Given the description of an element on the screen output the (x, y) to click on. 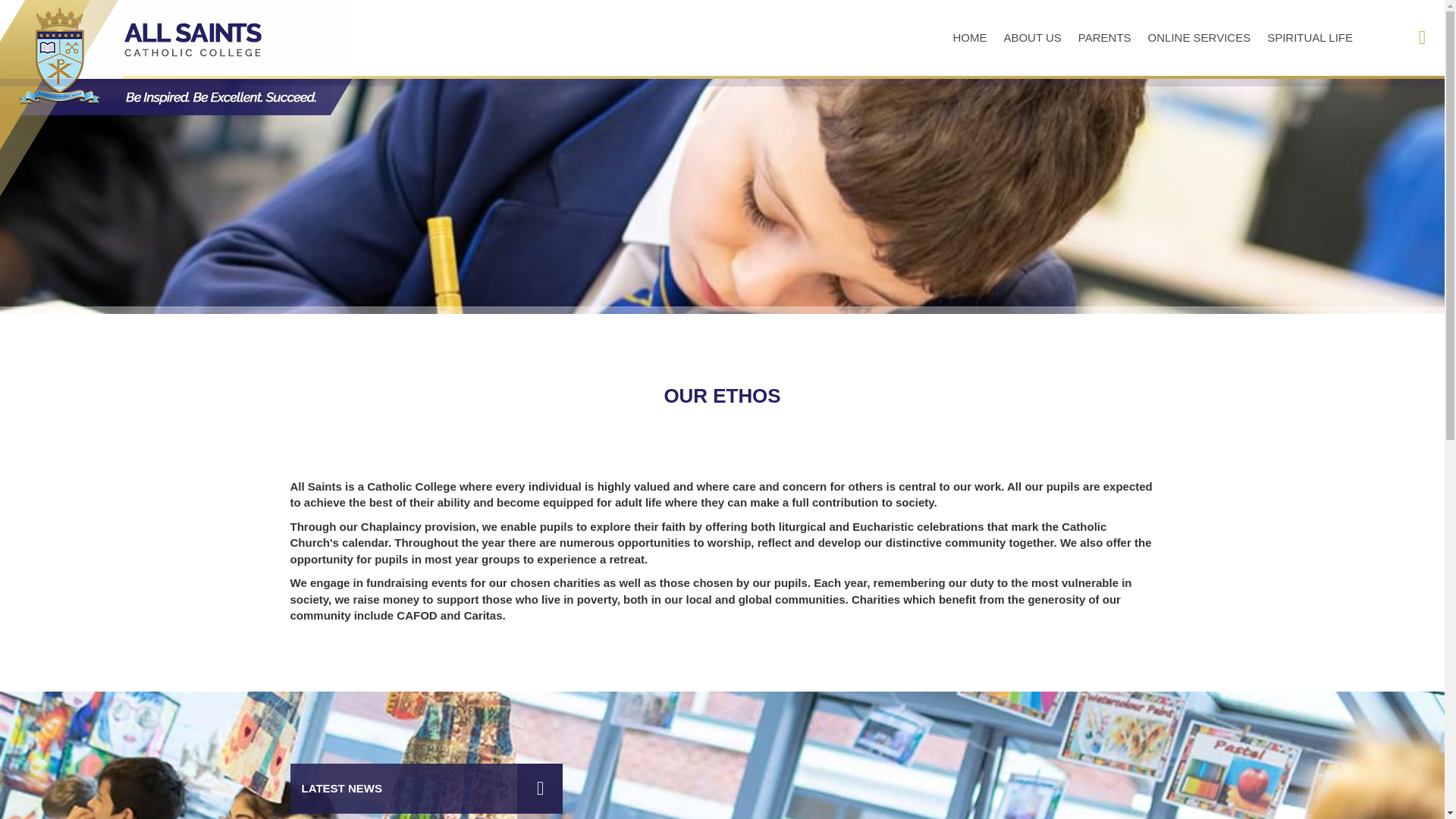
PARENTS (1105, 37)
ABOUT US (1031, 37)
HOME (968, 37)
